Given the description of an element on the screen output the (x, y) to click on. 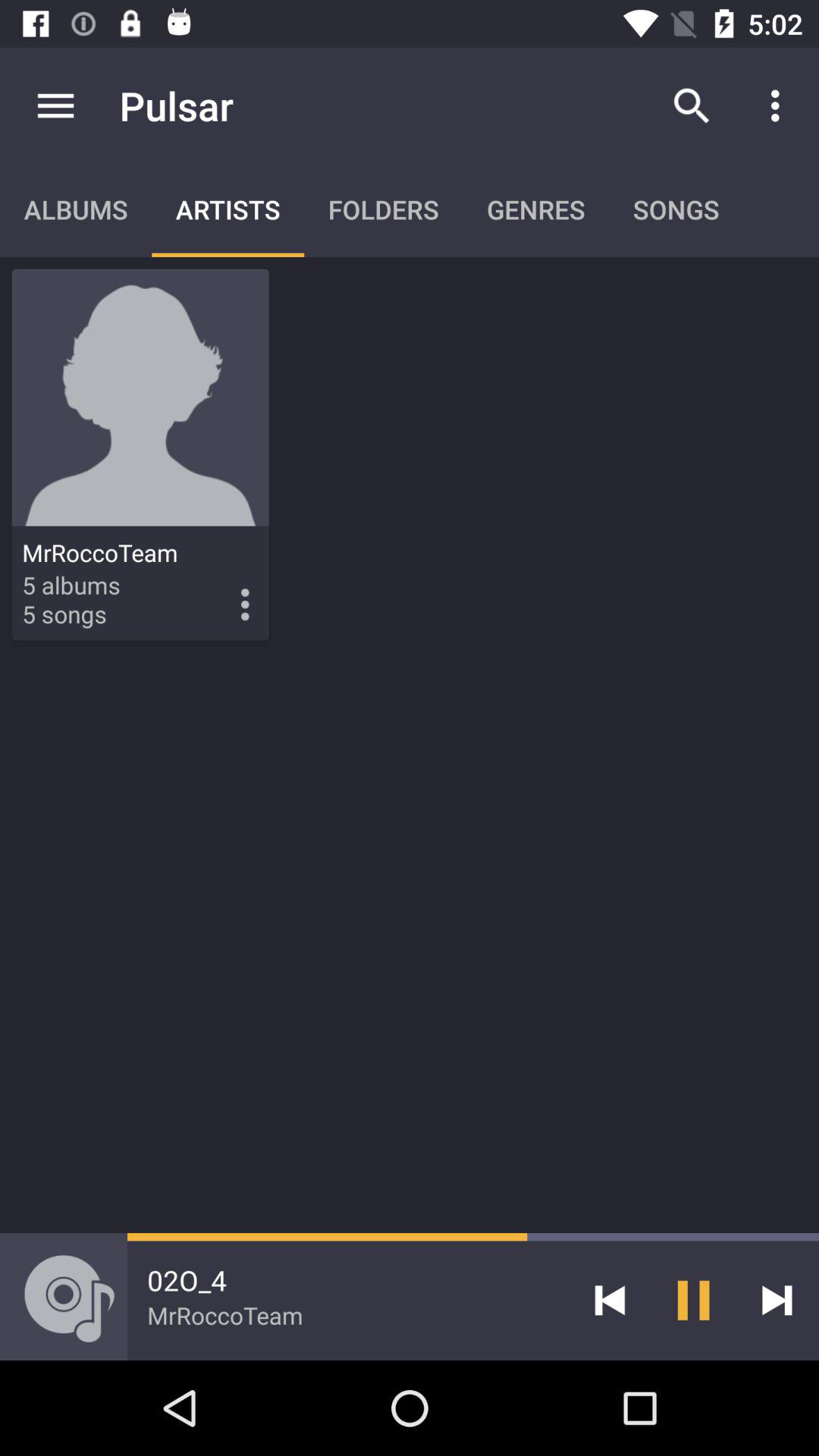
choose the app to the right of the pulsar (691, 105)
